Given the description of an element on the screen output the (x, y) to click on. 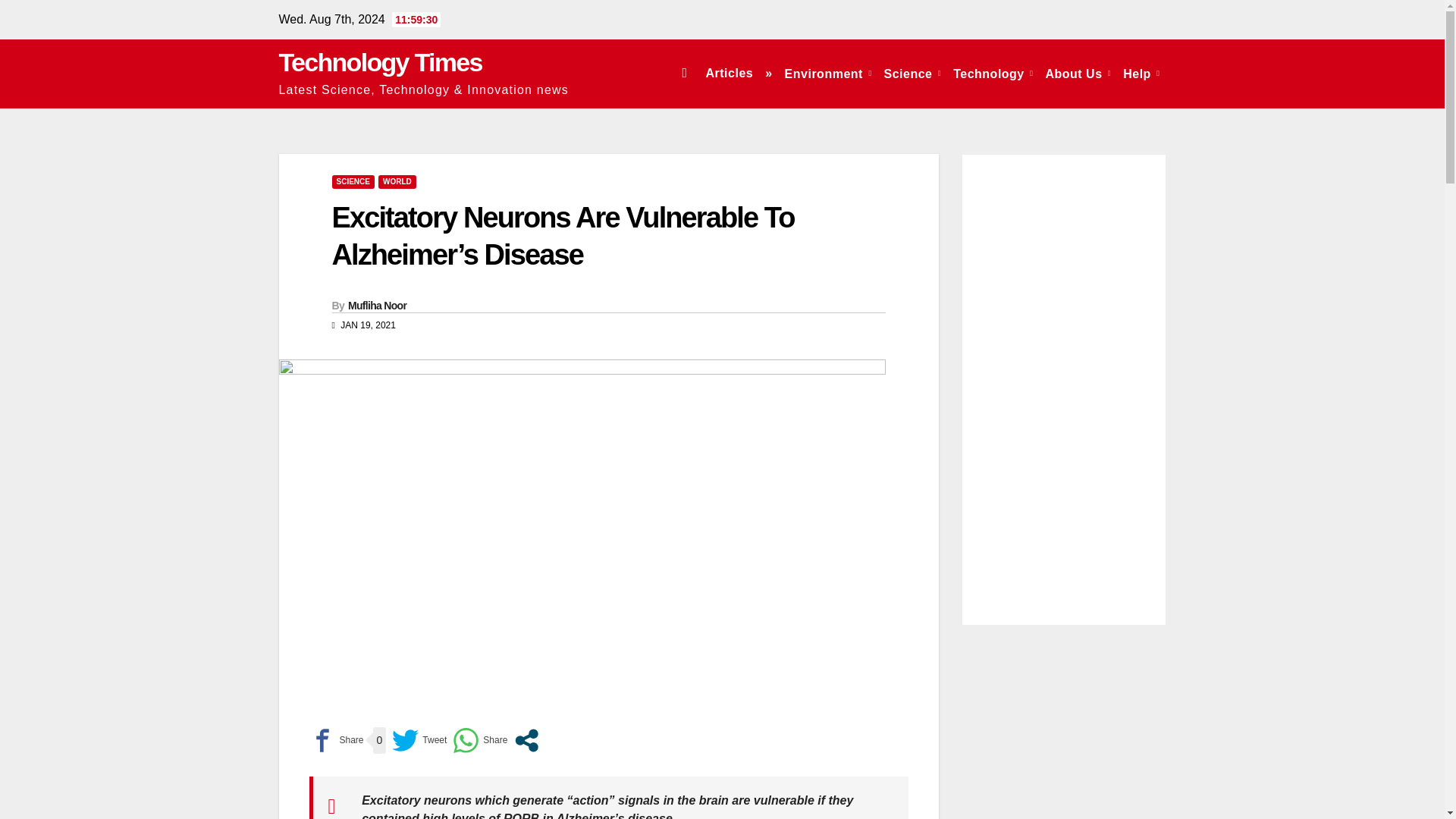
Technology (993, 73)
Science (912, 73)
Technology (993, 73)
Technology Times (380, 61)
About Us (1077, 73)
Science (912, 73)
Environment (827, 73)
Environment (827, 73)
